Given the description of an element on the screen output the (x, y) to click on. 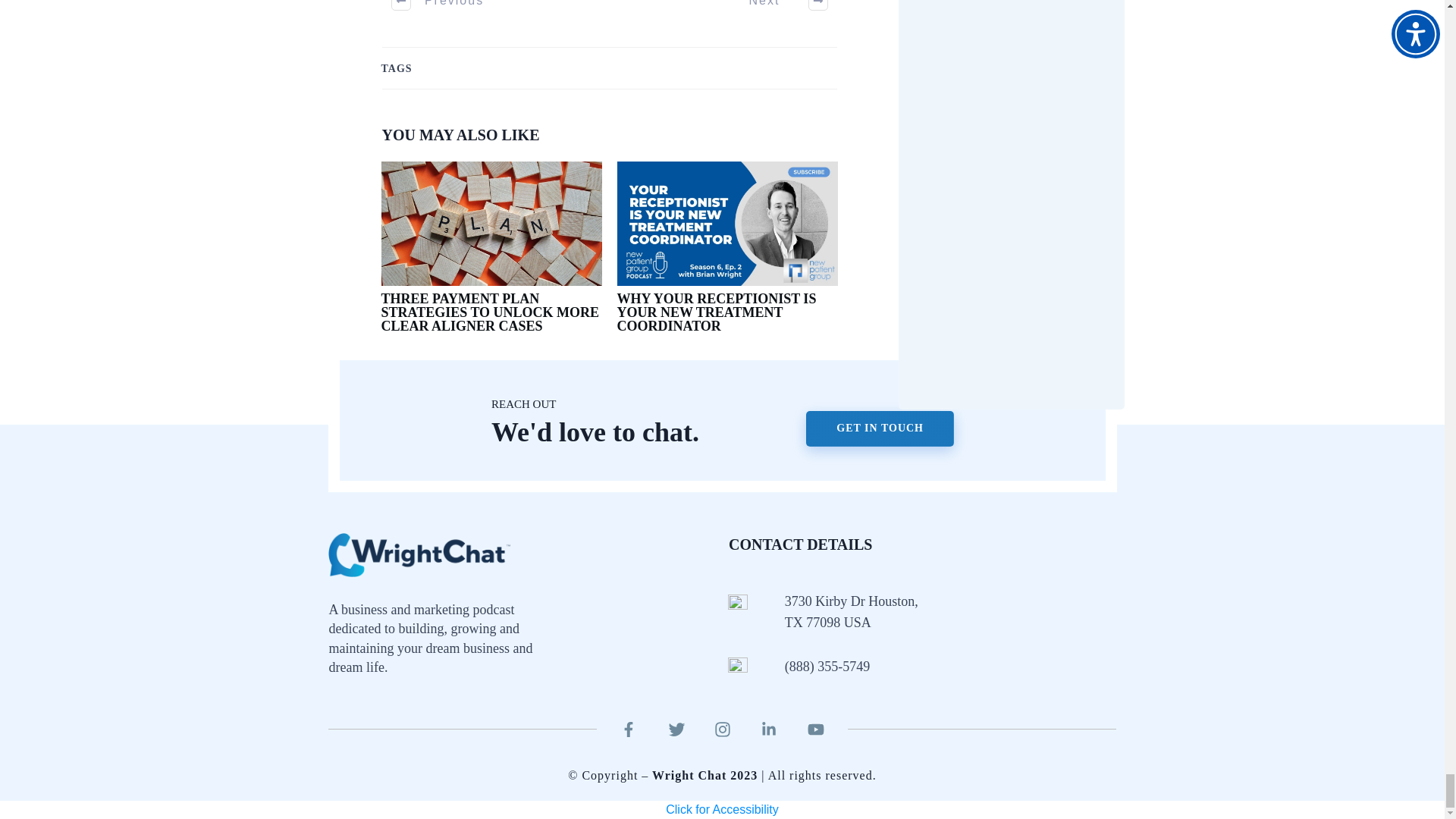
Next (780, 9)
Why your Receptionist is your New Treatment Coordinator (727, 254)
Previous (438, 9)
WHY YOUR RECEPTIONIST IS YOUR NEW TREATMENT COORDINATOR (716, 312)
GET IN TOUCH (879, 428)
